Given the description of an element on the screen output the (x, y) to click on. 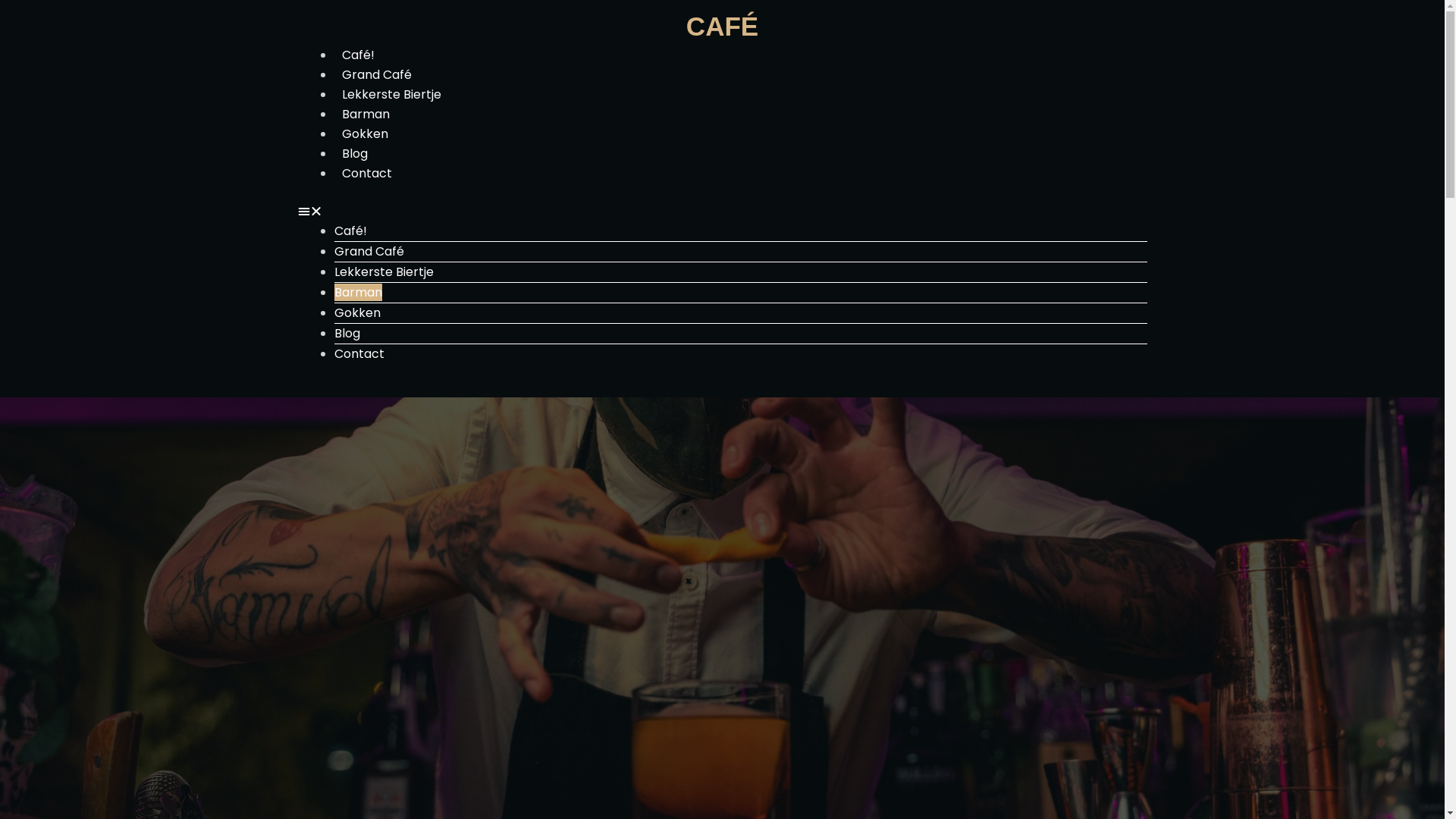
Contact Element type: text (365, 173)
Gokken Element type: text (356, 312)
Contact Element type: text (358, 353)
Barman Element type: text (357, 292)
Blog Element type: text (346, 333)
Barman Element type: text (364, 113)
Lekkerste Biertje Element type: text (390, 94)
Lekkerste Biertje Element type: text (383, 271)
Blog Element type: text (353, 153)
Gokken Element type: text (364, 133)
